Given the description of an element on the screen output the (x, y) to click on. 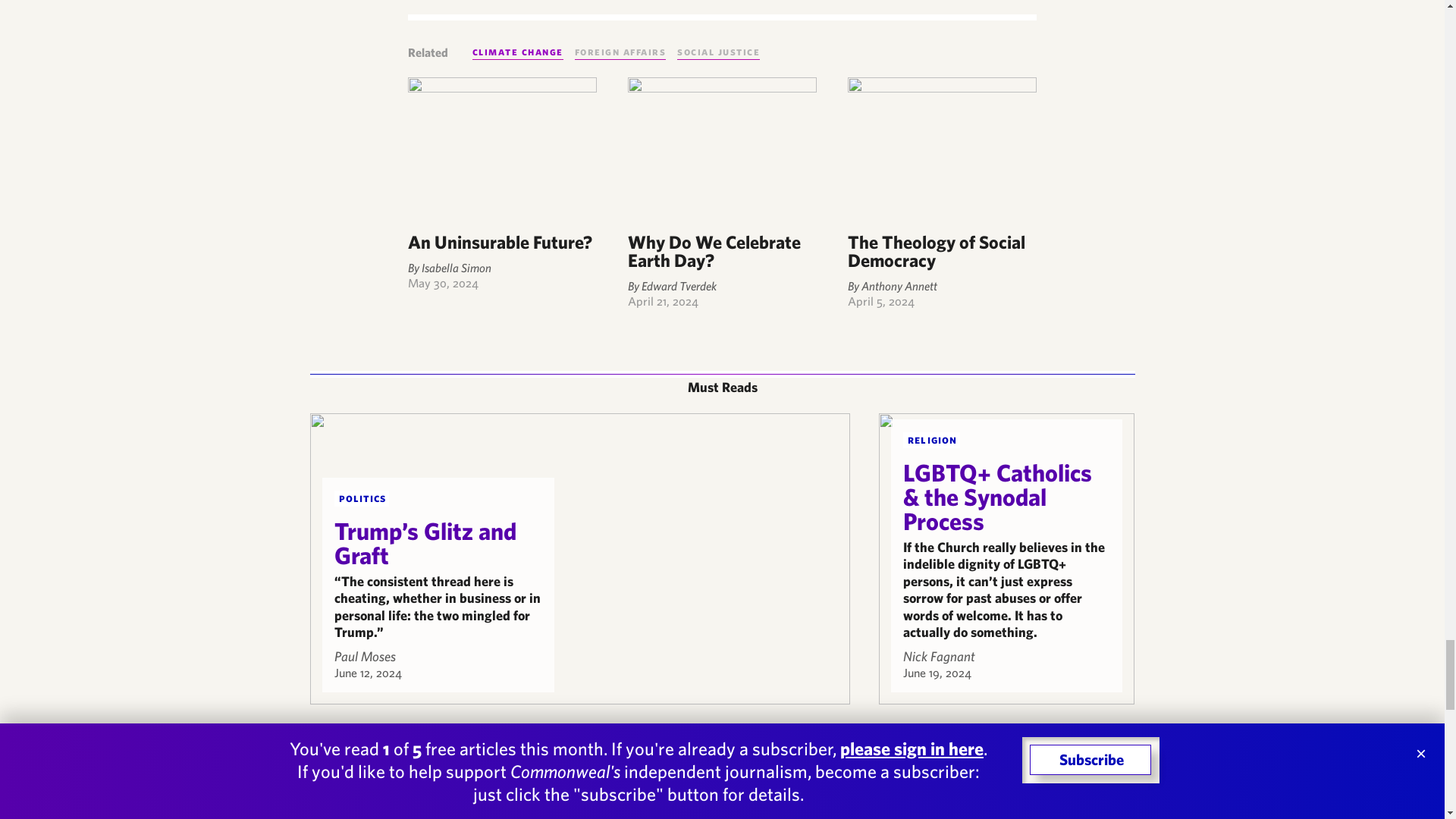
Wednesday, June 19, 2024 - 13:57 (936, 672)
Sunday, April 21, 2024 - 14:05 (662, 300)
View user profile. (363, 656)
Thursday, May 30, 2024 - 10:23 (443, 282)
Wednesday, June 12, 2024 - 10:53 (367, 672)
View user profile. (938, 656)
Friday, April 5, 2024 - 13:25 (880, 300)
